Given the description of an element on the screen output the (x, y) to click on. 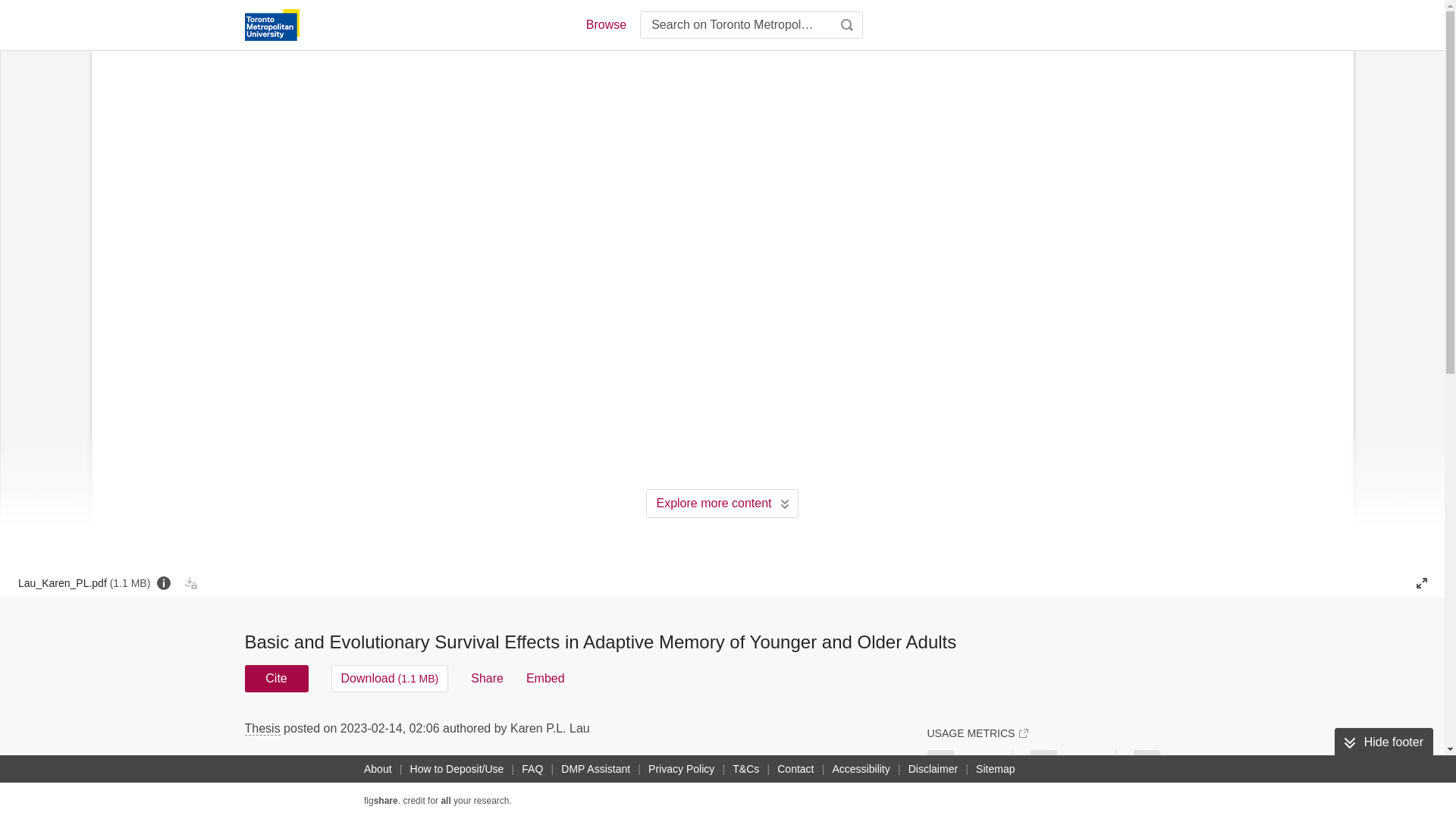
DMP Assistant (595, 769)
USAGE METRICS (976, 732)
Cite (275, 678)
Browse (605, 24)
Contact (795, 769)
Privacy Policy (681, 769)
Embed (544, 678)
Share (486, 678)
Explore more content (721, 502)
About (377, 769)
